Given the description of an element on the screen output the (x, y) to click on. 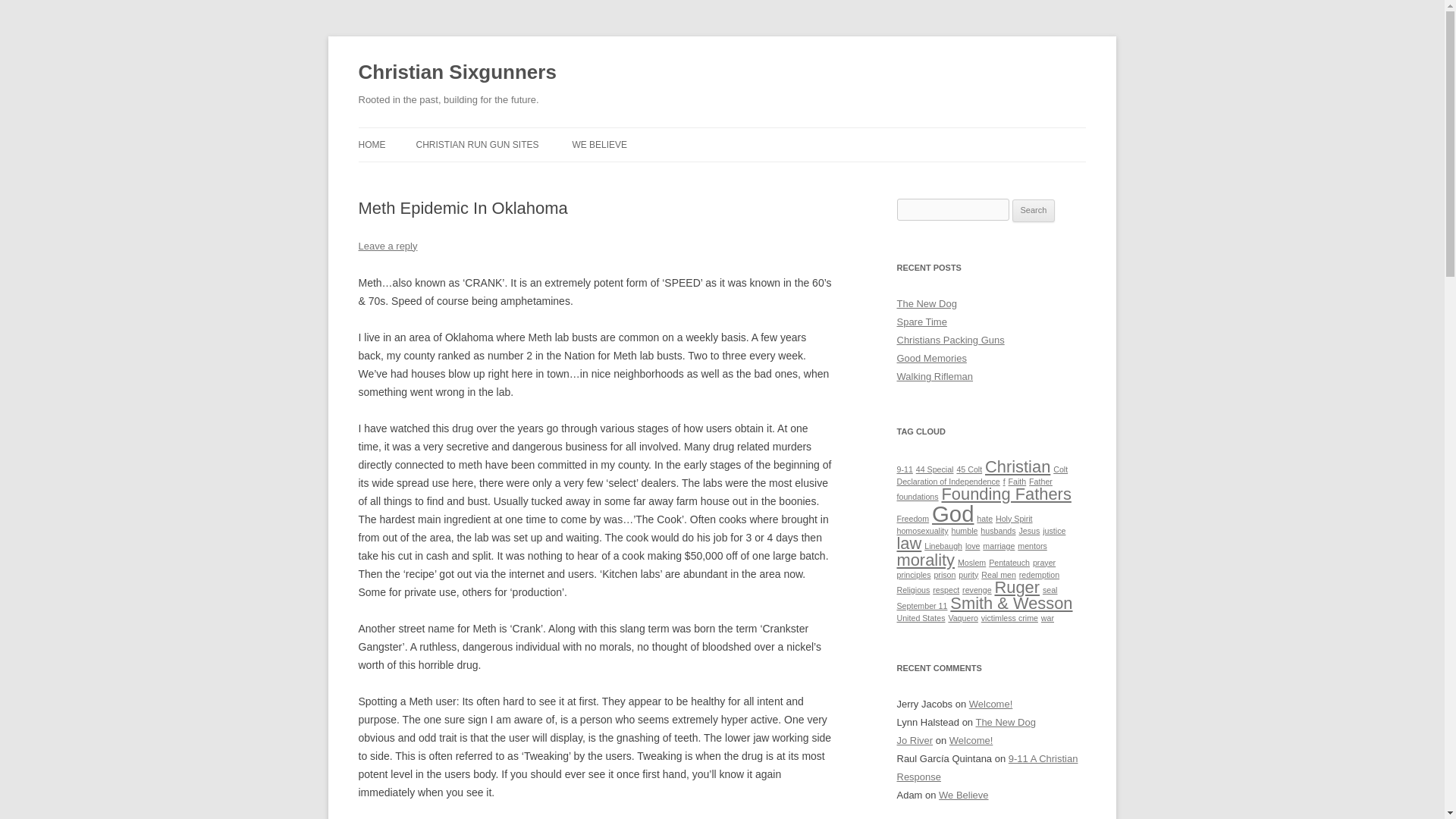
Declaration of Independence (947, 481)
Search (1033, 210)
45 Colt (968, 469)
Spare Time (921, 321)
Christians Packing Guns (950, 339)
Christian Sixgunners (457, 72)
Christian Sixgunners (457, 72)
Good Memories (931, 357)
WE BELIEVE (599, 144)
